Given the description of an element on the screen output the (x, y) to click on. 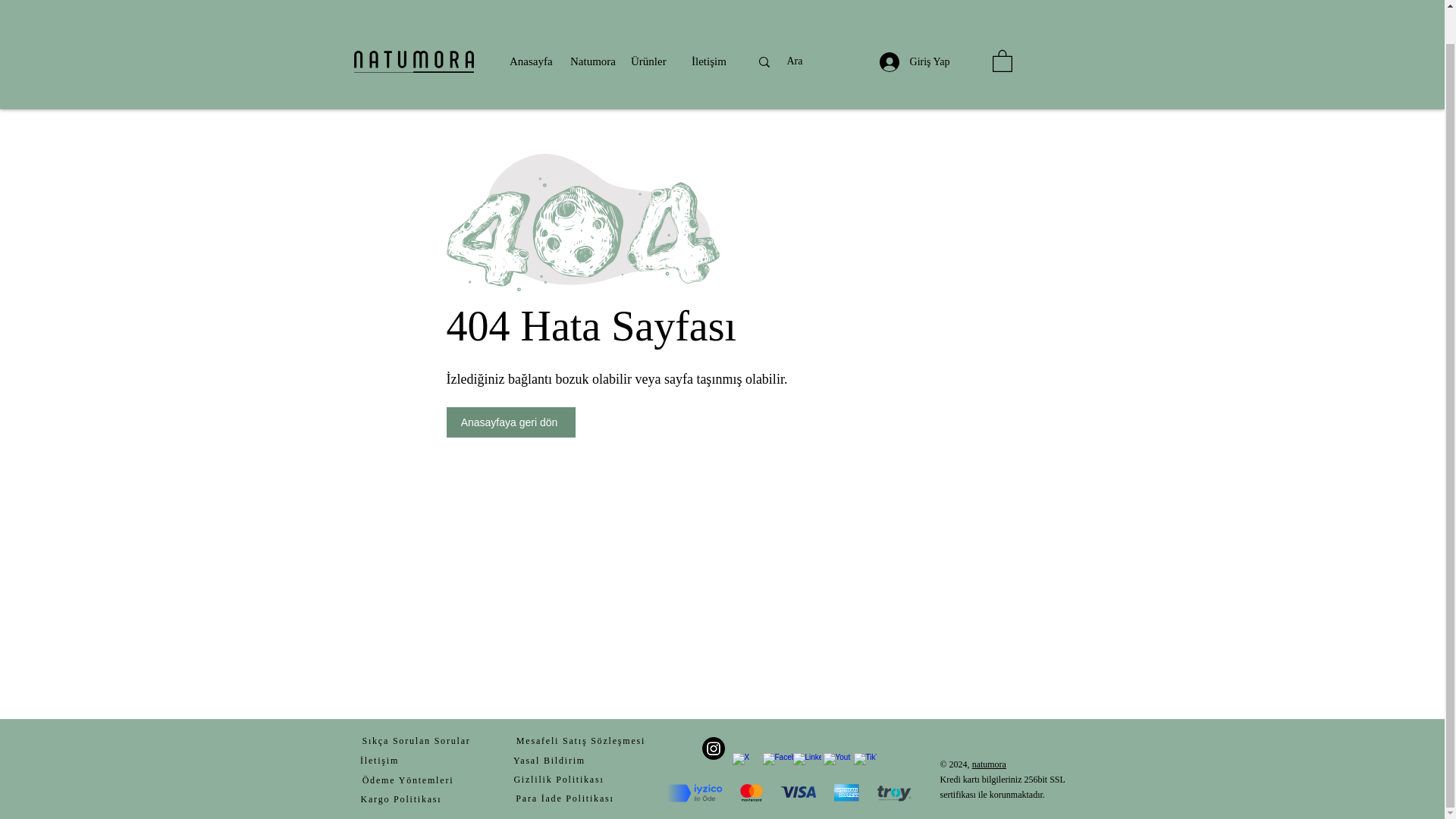
natumora (989, 764)
Yasal Bildirim (549, 761)
Anasayfa (532, 26)
